Given the description of an element on the screen output the (x, y) to click on. 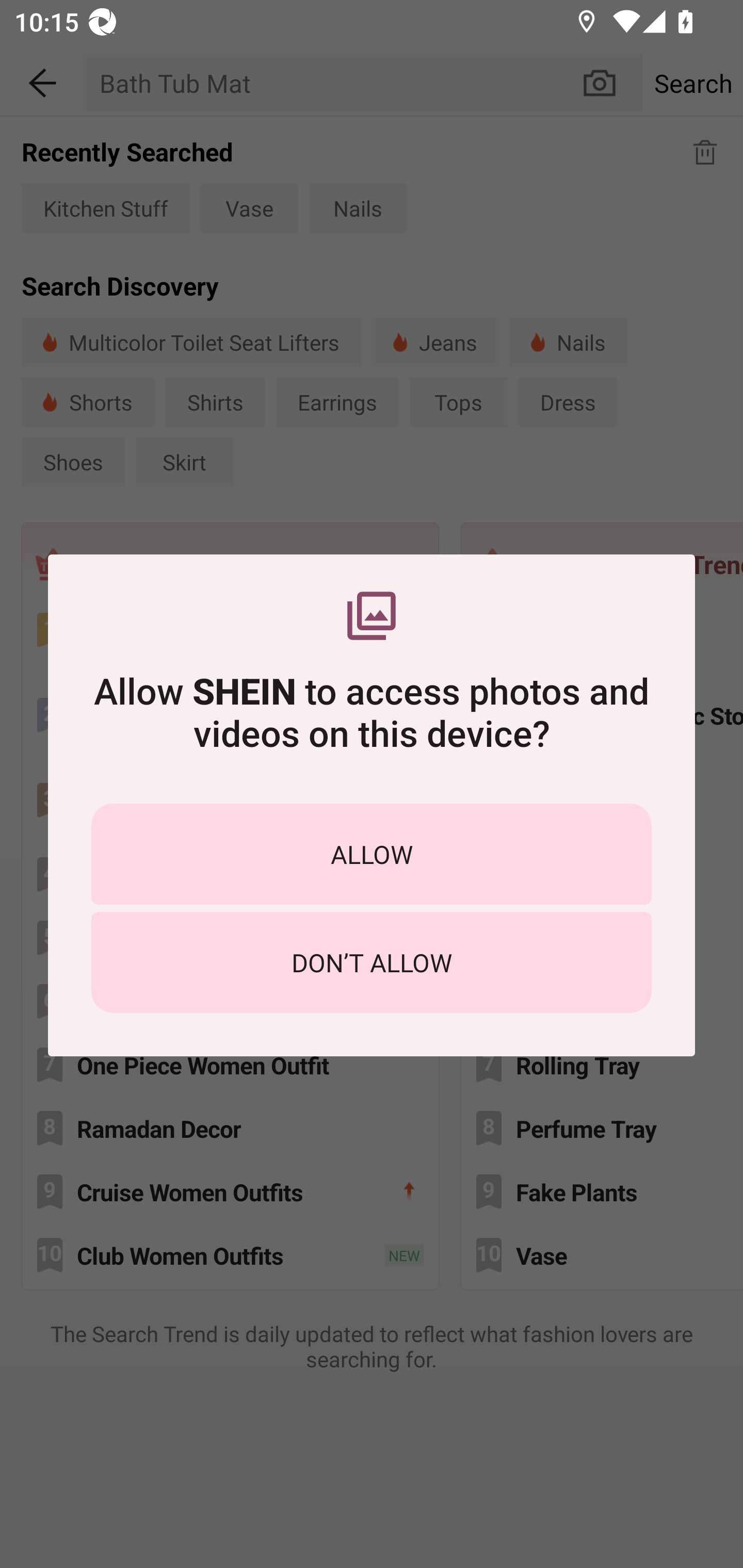
ALLOW (371, 853)
DON’T ALLOW (371, 962)
